Given the description of an element on the screen output the (x, y) to click on. 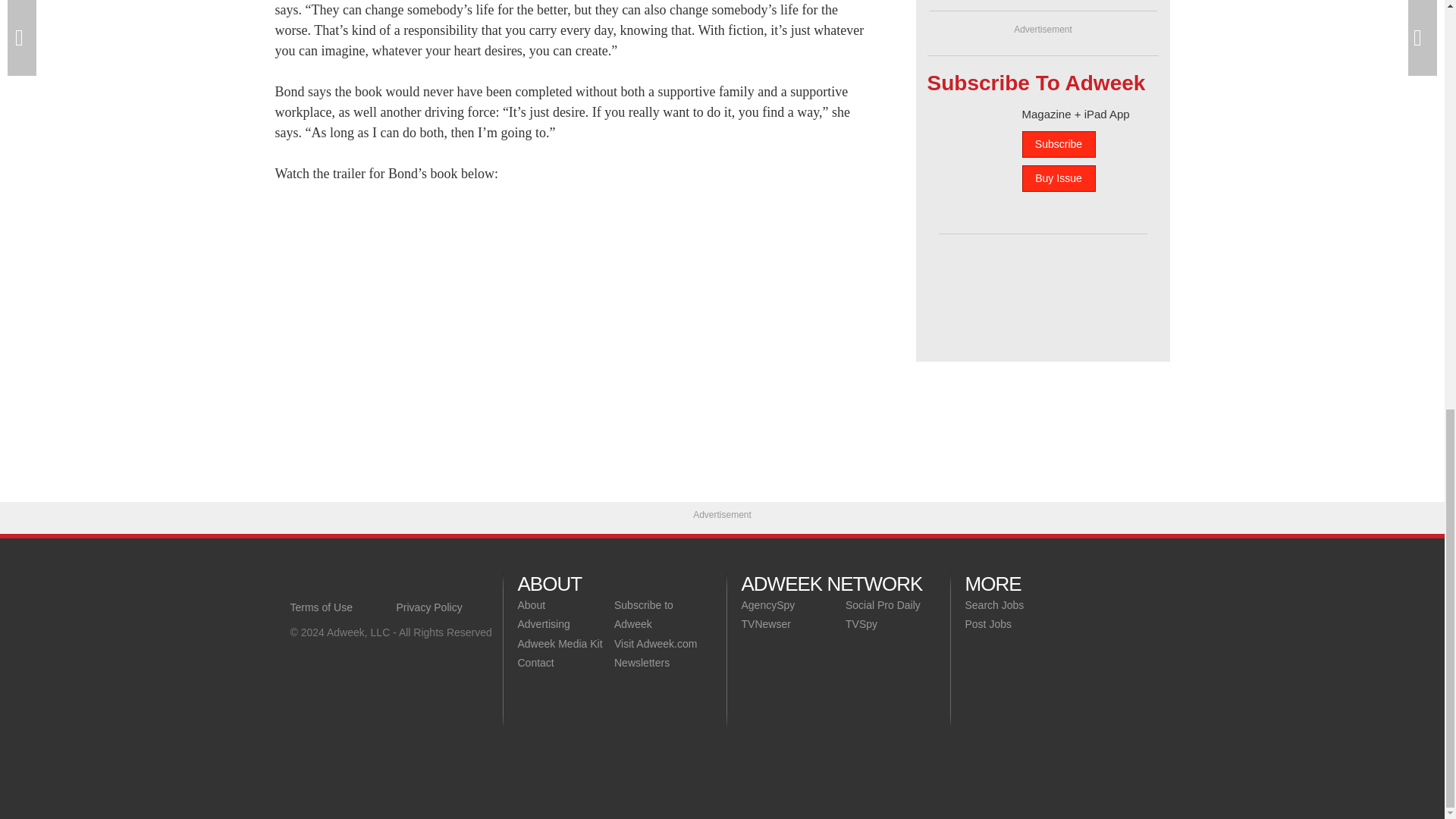
Covering local television news (395, 583)
